Given the description of an element on the screen output the (x, y) to click on. 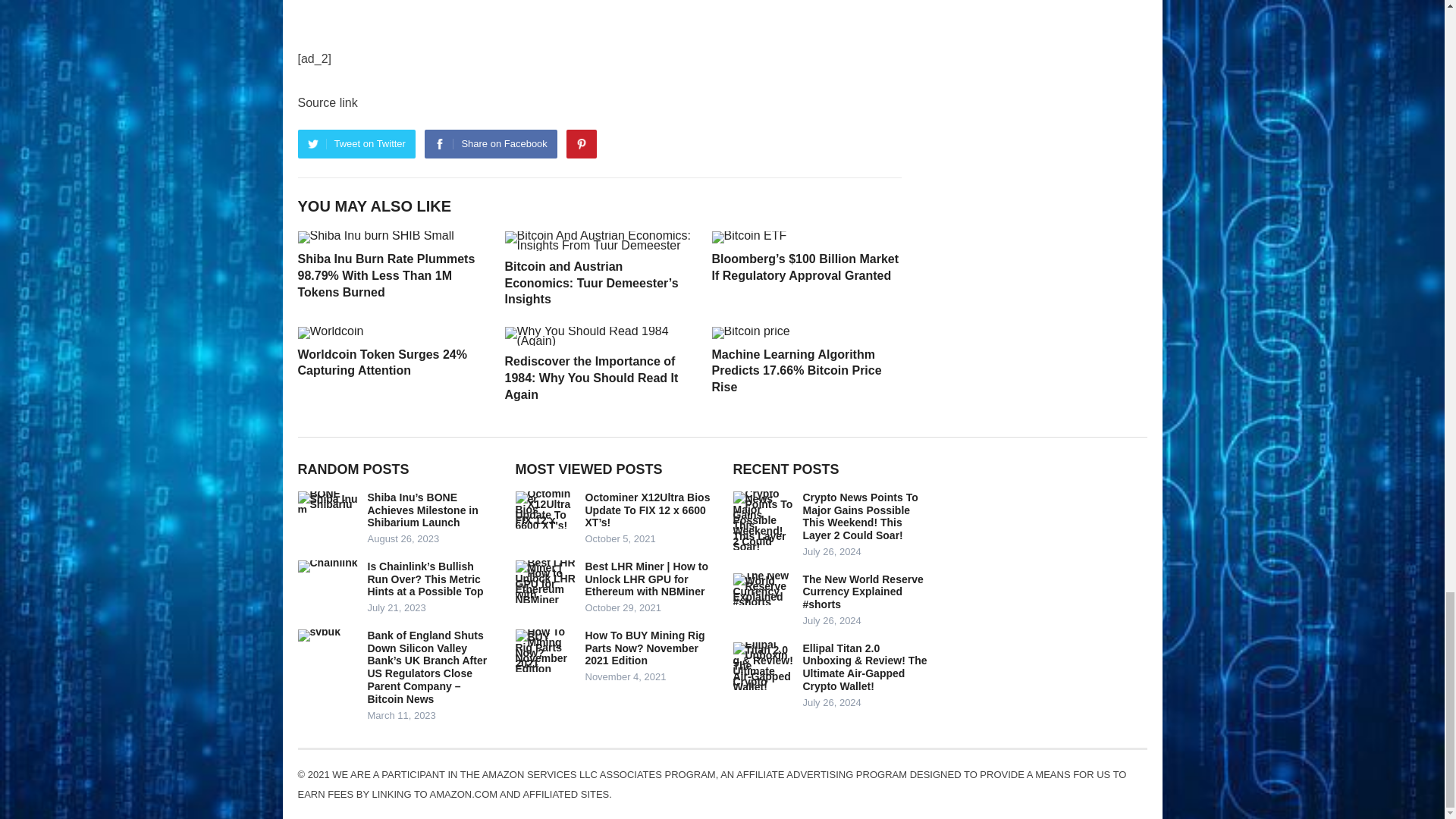
Pinterest (581, 143)
Bitcoin and Austrian Economics: Tuur Demeester's Insights 6 (599, 240)
Tweet on Twitter (355, 143)
Share on Facebook (490, 143)
Source link (326, 102)
